Given the description of an element on the screen output the (x, y) to click on. 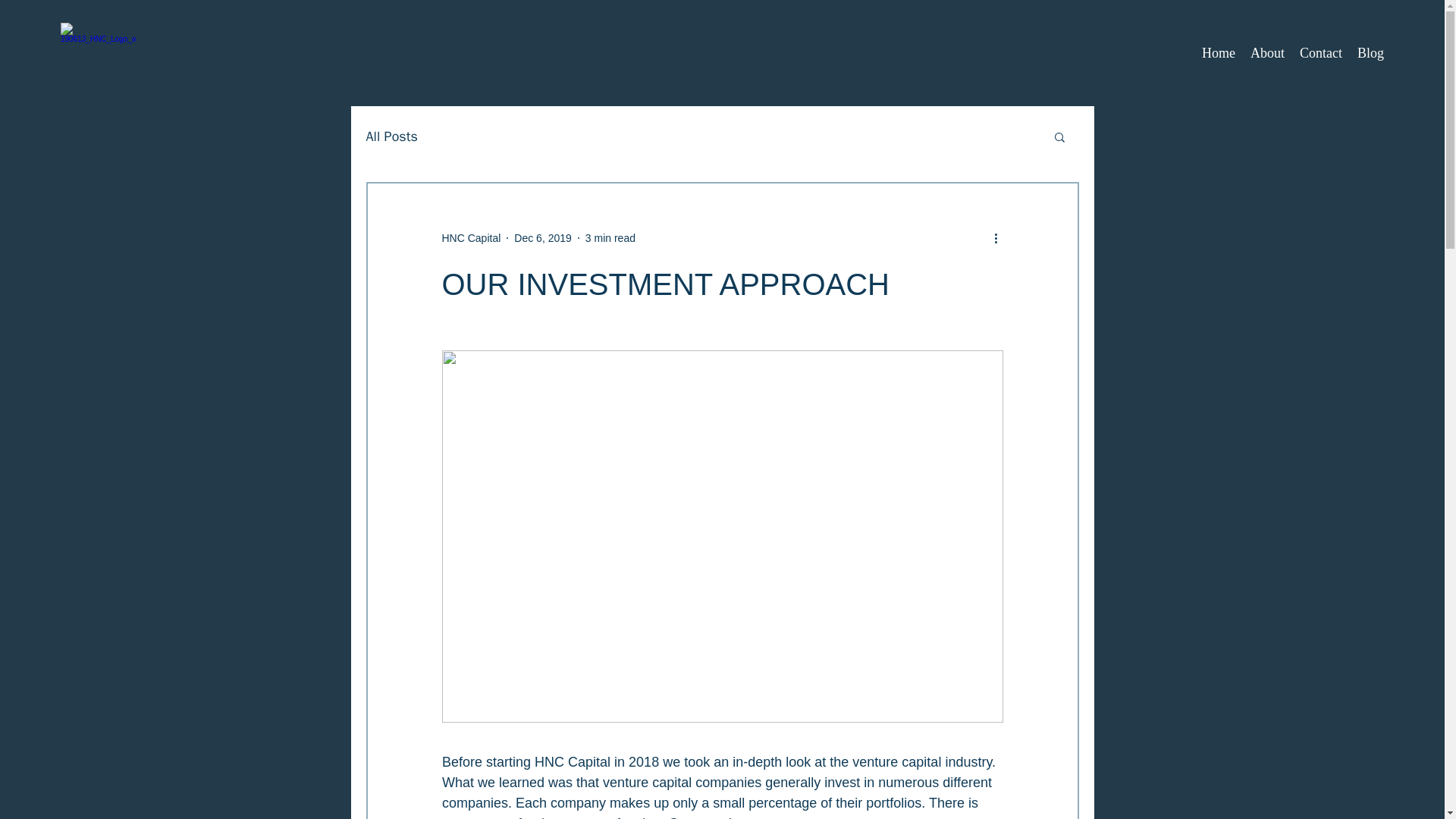
Home (1218, 52)
Contact (1320, 52)
3 min read (609, 237)
About (1267, 52)
HNC Capital (470, 238)
All Posts (390, 136)
Blog (1370, 52)
Dec 6, 2019 (542, 237)
